Given the description of an element on the screen output the (x, y) to click on. 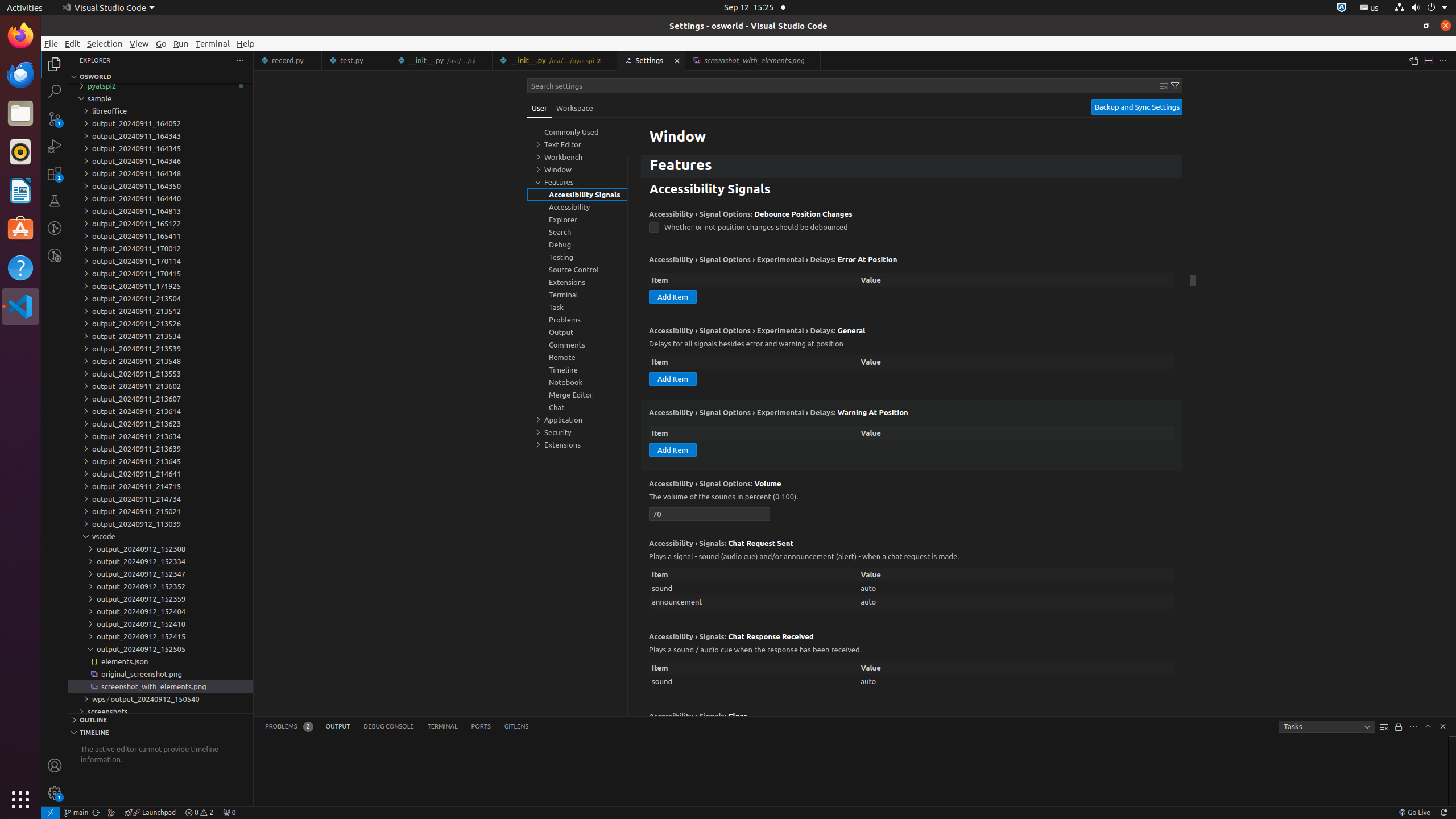
Accessibility › Signal Options Volume. The volume of the sounds in percent (0-100).  Element type: tree-item (911, 501)
Ports Element type: page-tab (480, 726)
pyatspi2 Element type: tree-item (160, 85)
output_20240911_214715 Element type: tree-item (160, 486)
output_20240912_113039 Element type: tree-item (160, 523)
